Given the description of an element on the screen output the (x, y) to click on. 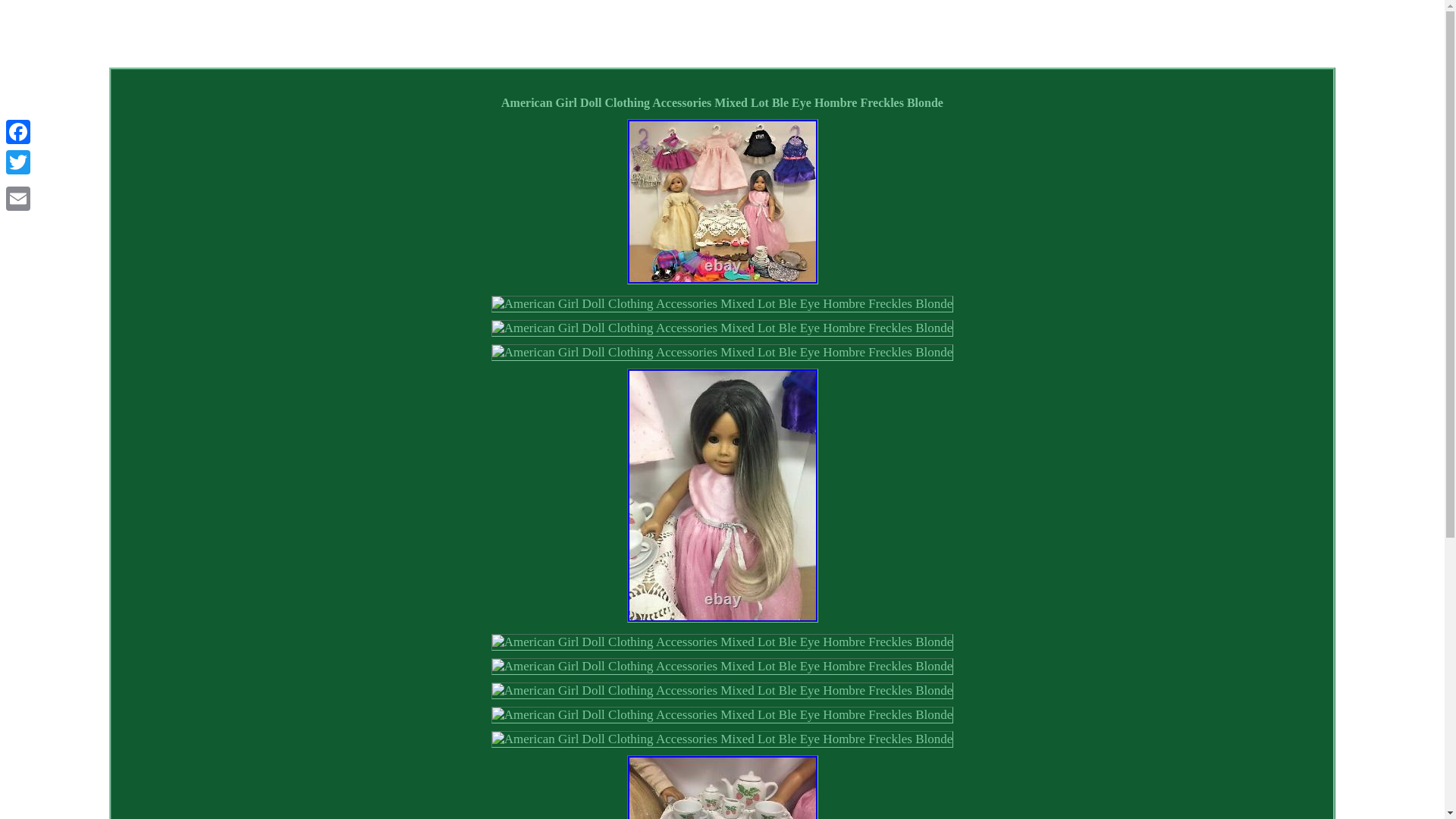
Email (17, 198)
Facebook (17, 132)
Twitter (17, 162)
